Given the description of an element on the screen output the (x, y) to click on. 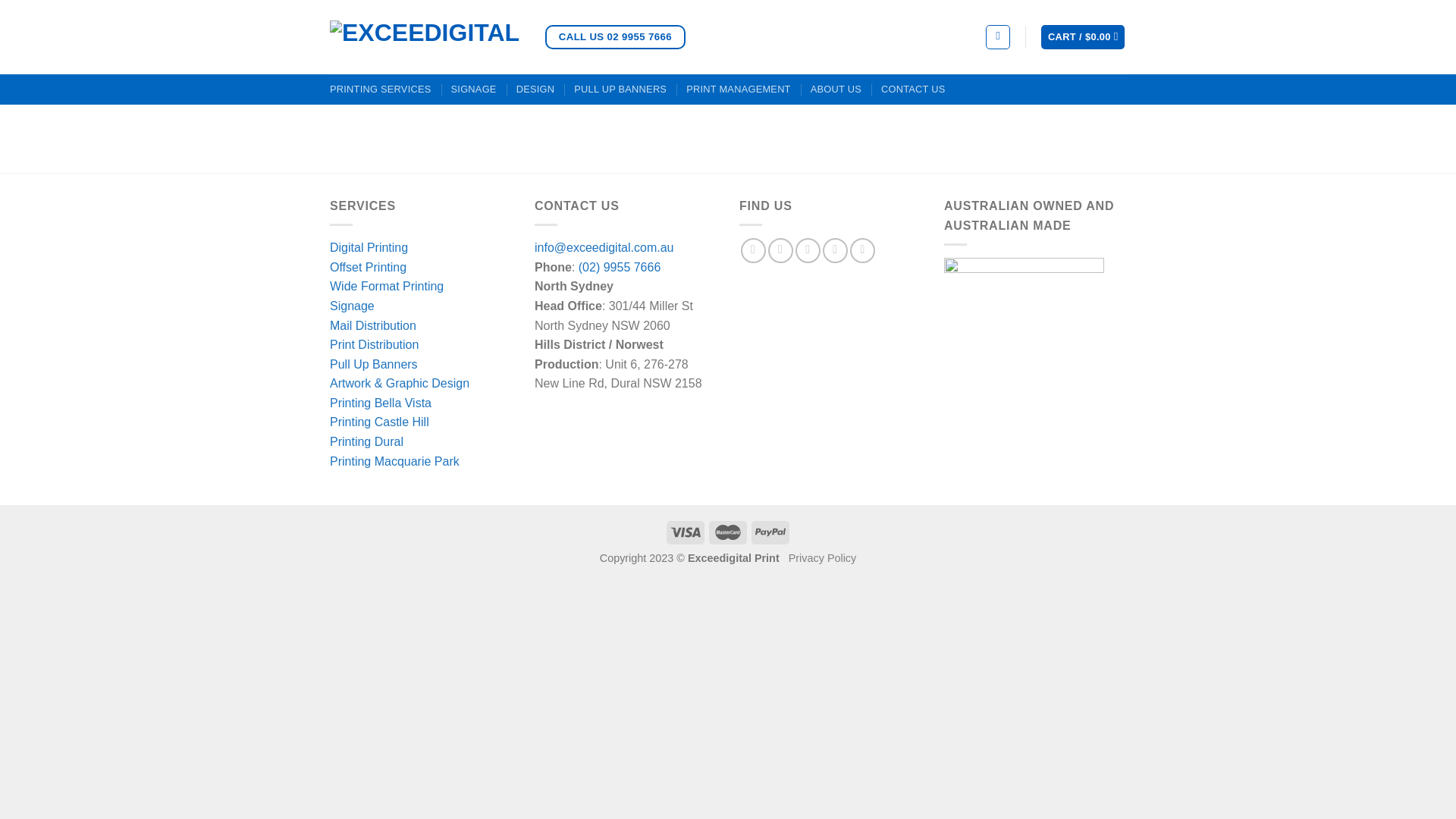
PRINTING SERVICES Element type: text (380, 89)
Digital Printing Element type: text (368, 247)
CONTACT US Element type: text (913, 89)
Pull Up Banners Element type: text (373, 363)
(02) 9955 7666 Element type: text (619, 266)
Printing Bella Vista Element type: text (380, 402)
Printing Macquarie Park Element type: text (394, 461)
Printing Castle Hill Element type: text (379, 421)
PRINT MANAGEMENT Element type: text (738, 89)
info@exceedigital.com.au Element type: text (603, 247)
CART / $0.00 Element type: text (1082, 37)
DESIGN Element type: text (535, 89)
Signage Element type: text (351, 305)
Follow on Twitter Element type: hover (807, 250)
PULL UP BANNERS Element type: text (620, 89)
ABOUT US Element type: text (835, 89)
Send us an email Element type: hover (834, 250)
Exceedigital - Printing Shop in North Sydney Element type: hover (425, 36)
Follow on LinkedIn Element type: hover (862, 250)
Privacy Policy Element type: text (822, 558)
CALL US 02 9955 7666 Element type: text (615, 37)
Artwork & Graphic Design Element type: text (399, 382)
Follow on Facebook Element type: hover (752, 250)
SIGNAGE Element type: text (473, 89)
Mail Distribution Element type: text (372, 325)
Wide Format Printing Element type: text (386, 285)
Printing Dural Element type: text (366, 441)
Print Distribution Element type: text (373, 344)
Offset Printing Element type: text (367, 266)
Follow on Instagram Element type: hover (780, 250)
